Given the description of an element on the screen output the (x, y) to click on. 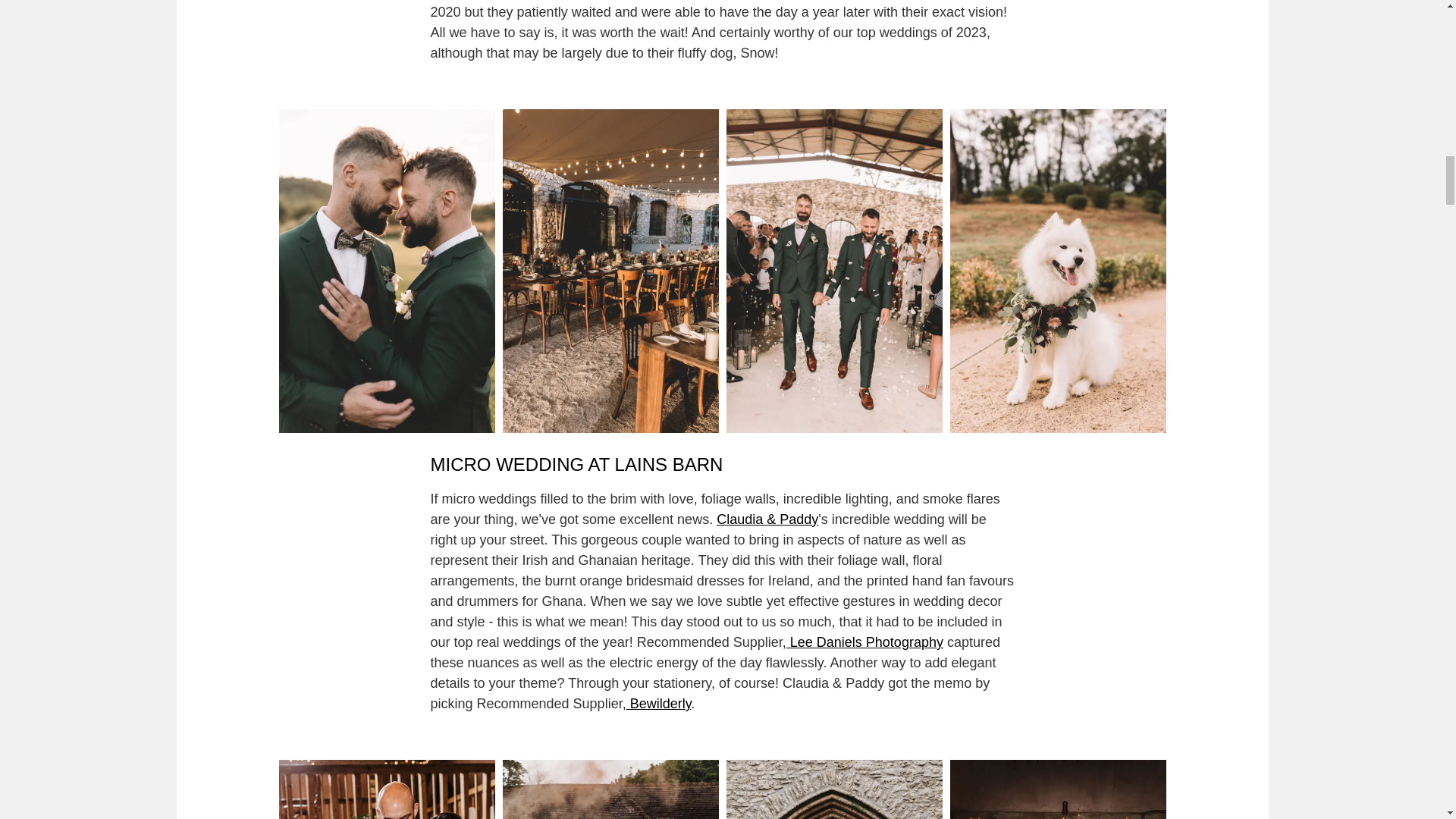
Lee Daniels Photography (864, 642)
Bewilderly (658, 703)
